Given the description of an element on the screen output the (x, y) to click on. 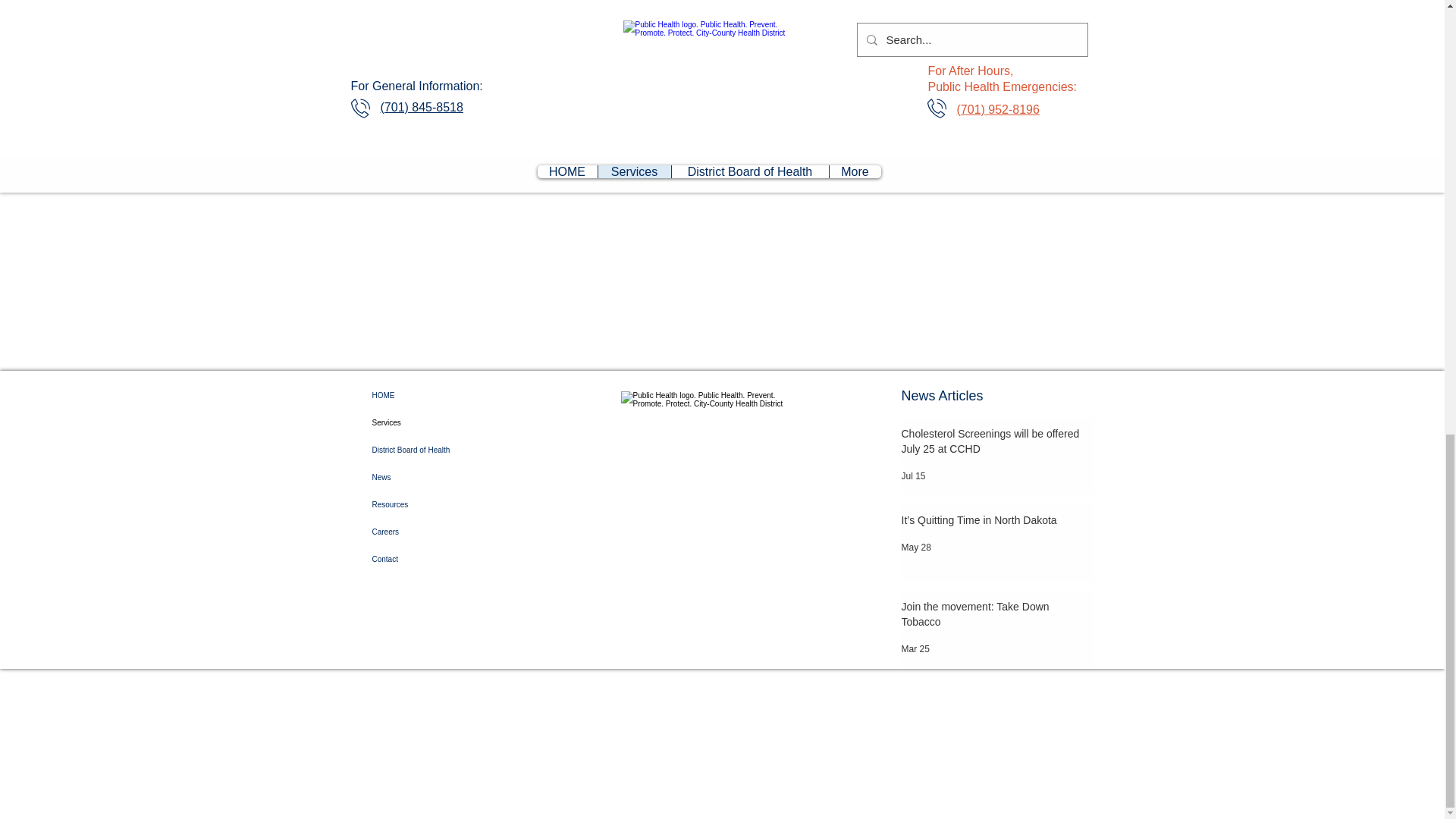
Services (432, 422)
May 28 (915, 547)
Mar 25 (914, 648)
HOME (432, 395)
Jul 15 (912, 475)
